Given the description of an element on the screen output the (x, y) to click on. 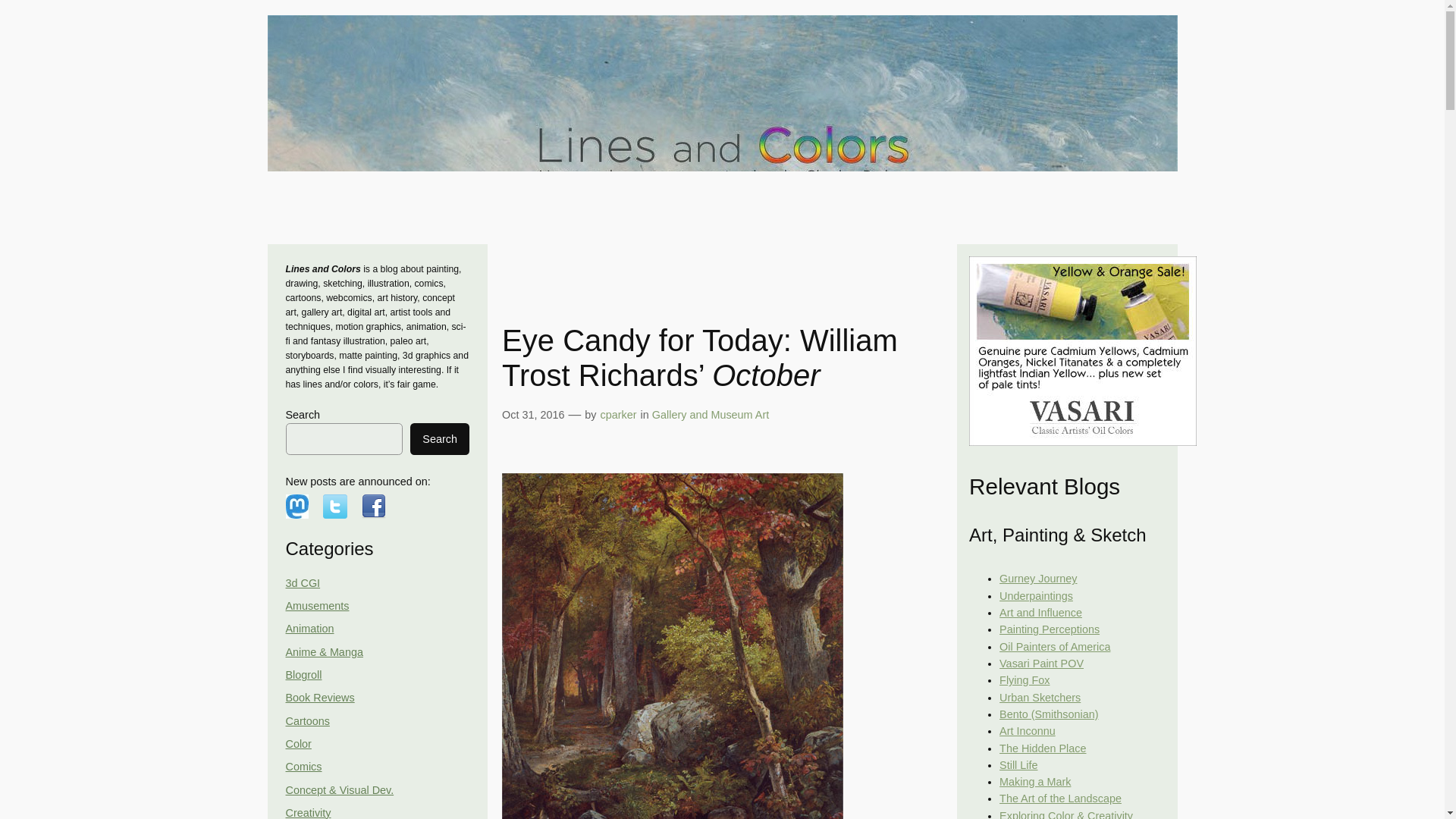
Comics (303, 766)
Blogroll (303, 674)
Amusements (317, 605)
Cartoons (307, 720)
Animation (309, 628)
Color (298, 743)
Book Reviews (319, 697)
Creativity (307, 812)
3d CGI (302, 582)
Search (439, 439)
